Given the description of an element on the screen output the (x, y) to click on. 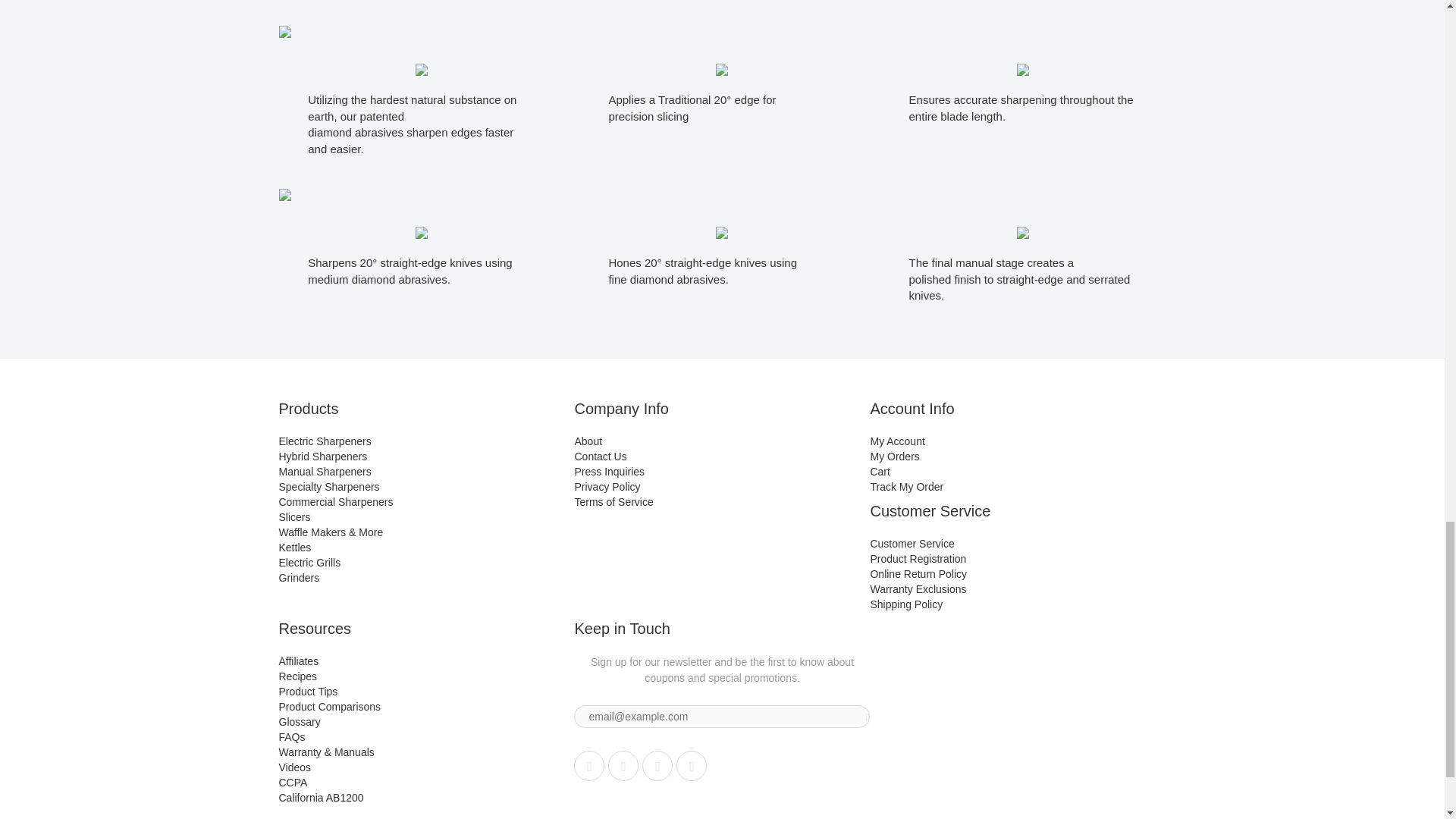
Instagram (691, 766)
Facebook (623, 766)
Pinterest (657, 766)
Twitter (588, 766)
